Given the description of an element on the screen output the (x, y) to click on. 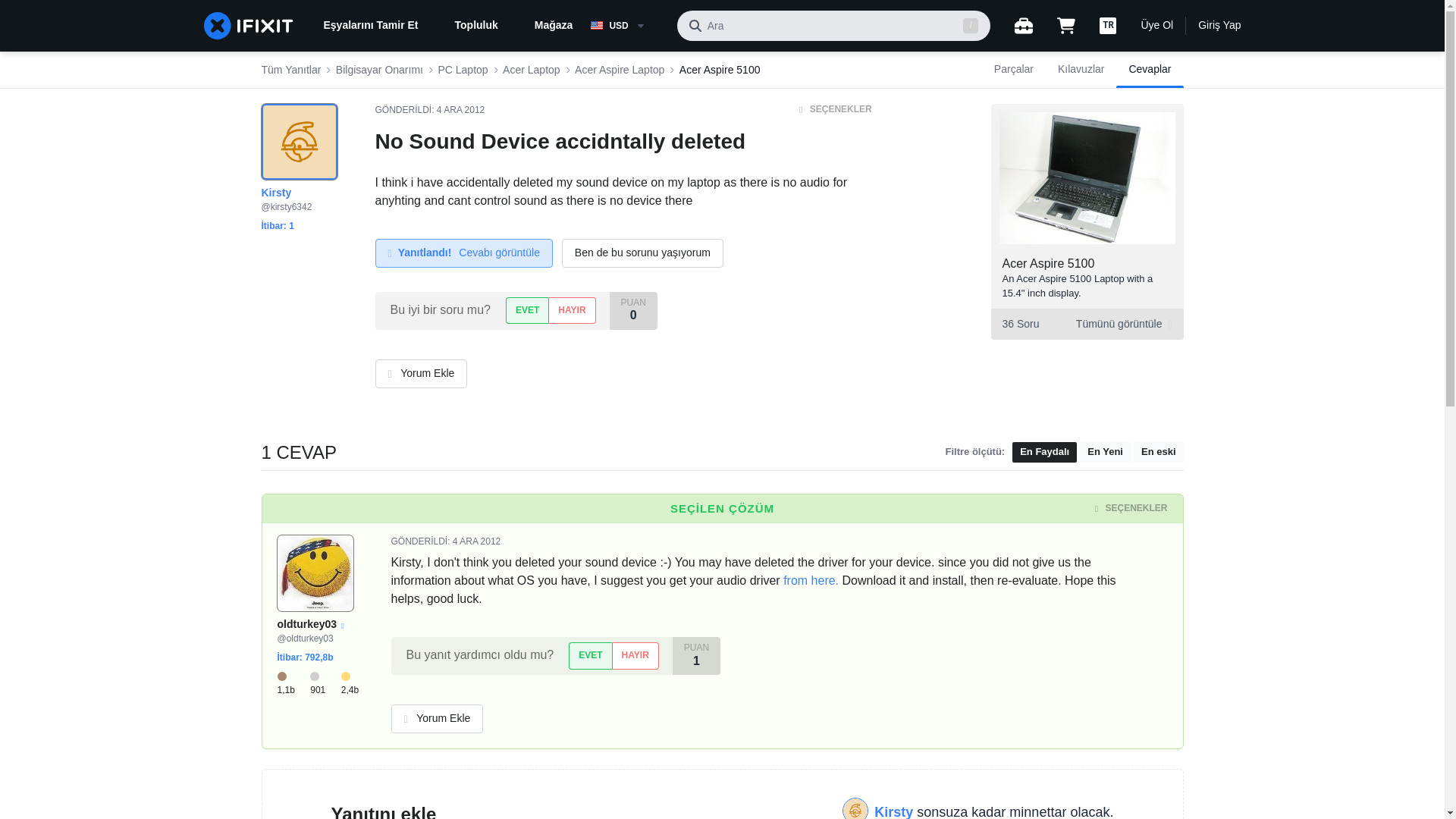
Tue, 04 Dec 2012 15:22:42 -0700 (460, 109)
PC Laptop (462, 69)
USD (627, 25)
Acer Aspire 5100 (719, 69)
Acer Aspire 5100 (1048, 263)
1162 Bronz rozeti (294, 683)
Acer Laptop (531, 69)
Cevaplar (1149, 69)
Tue, 04 Dec 2012 20:09:47 -0700 (476, 541)
Acer Aspire Laptop (619, 69)
